Given the description of an element on the screen output the (x, y) to click on. 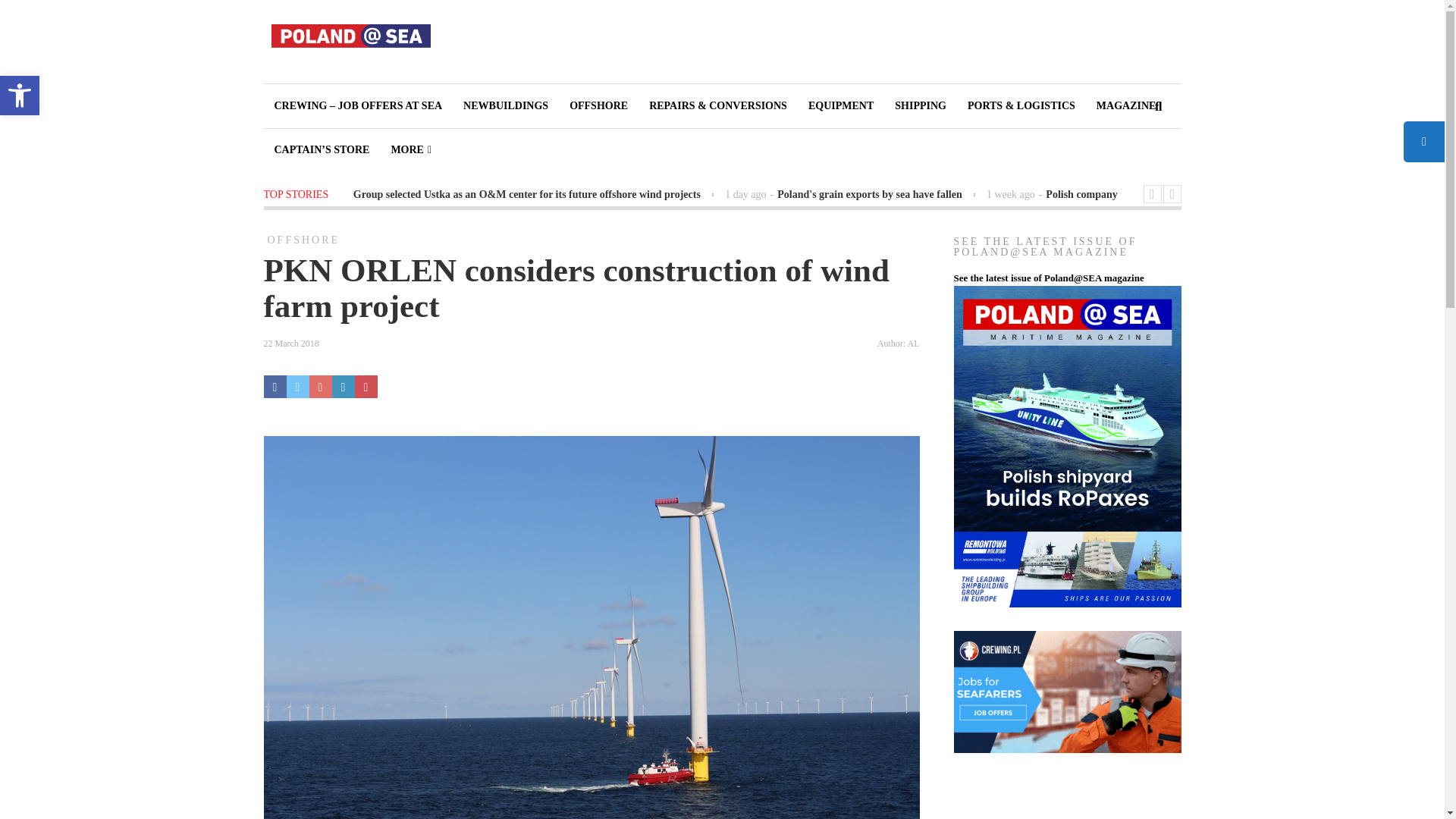
NEWBUILDINGS (505, 105)
YouTube video player (1086, 805)
EQUIPMENT (840, 105)
MORE (19, 95)
Accessibility Tools (411, 149)
OFFSHORE (19, 95)
MAGAZINE (599, 105)
SHIPPING (1126, 105)
Accessibility Tools (919, 105)
